Given the description of an element on the screen output the (x, y) to click on. 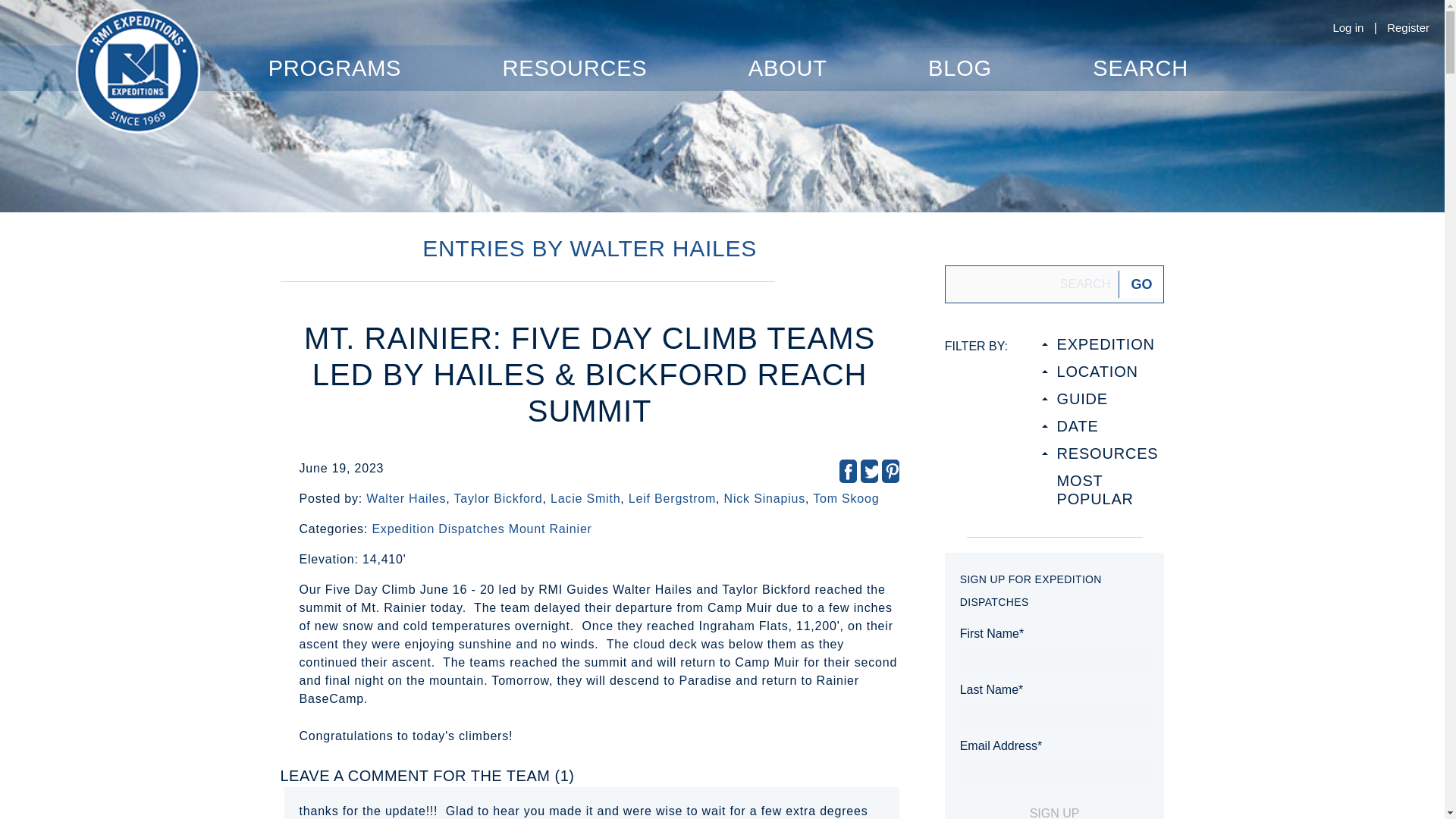
Register (1408, 27)
Go (1140, 284)
PROGRAMS (334, 68)
Go (1140, 284)
Log in (1347, 27)
Sign Up (1054, 811)
